Given the description of an element on the screen output the (x, y) to click on. 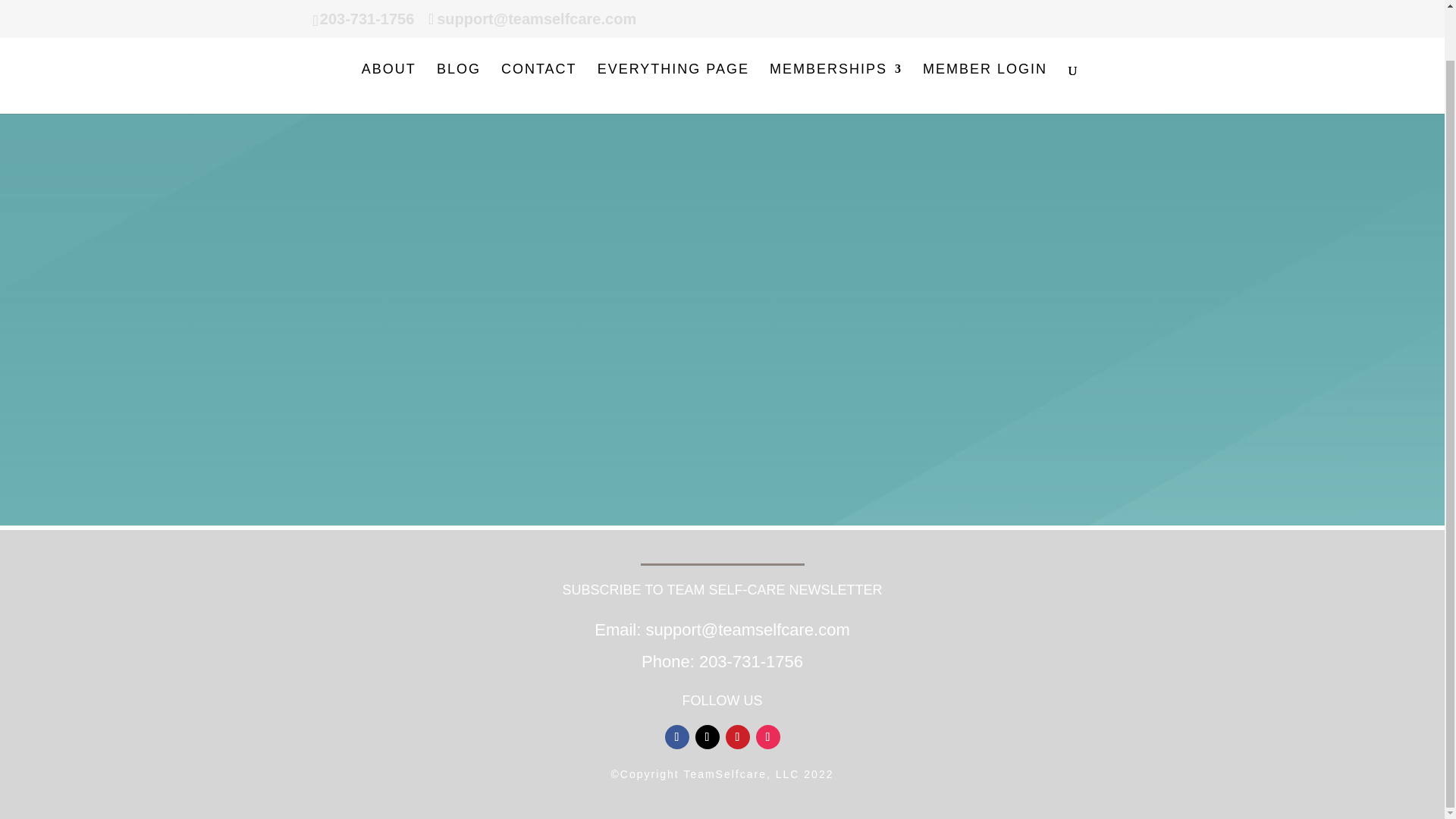
Follow on Twitter (706, 736)
Follow on Facebook (675, 736)
Follow on Pinterest (737, 736)
CONTACT (538, 34)
MEMBERSHIPS (836, 34)
EVERYTHING PAGE (672, 34)
ABOUT (388, 34)
MEMBER LOGIN (984, 34)
Follow on Instagram (766, 736)
